Given the description of an element on the screen output the (x, y) to click on. 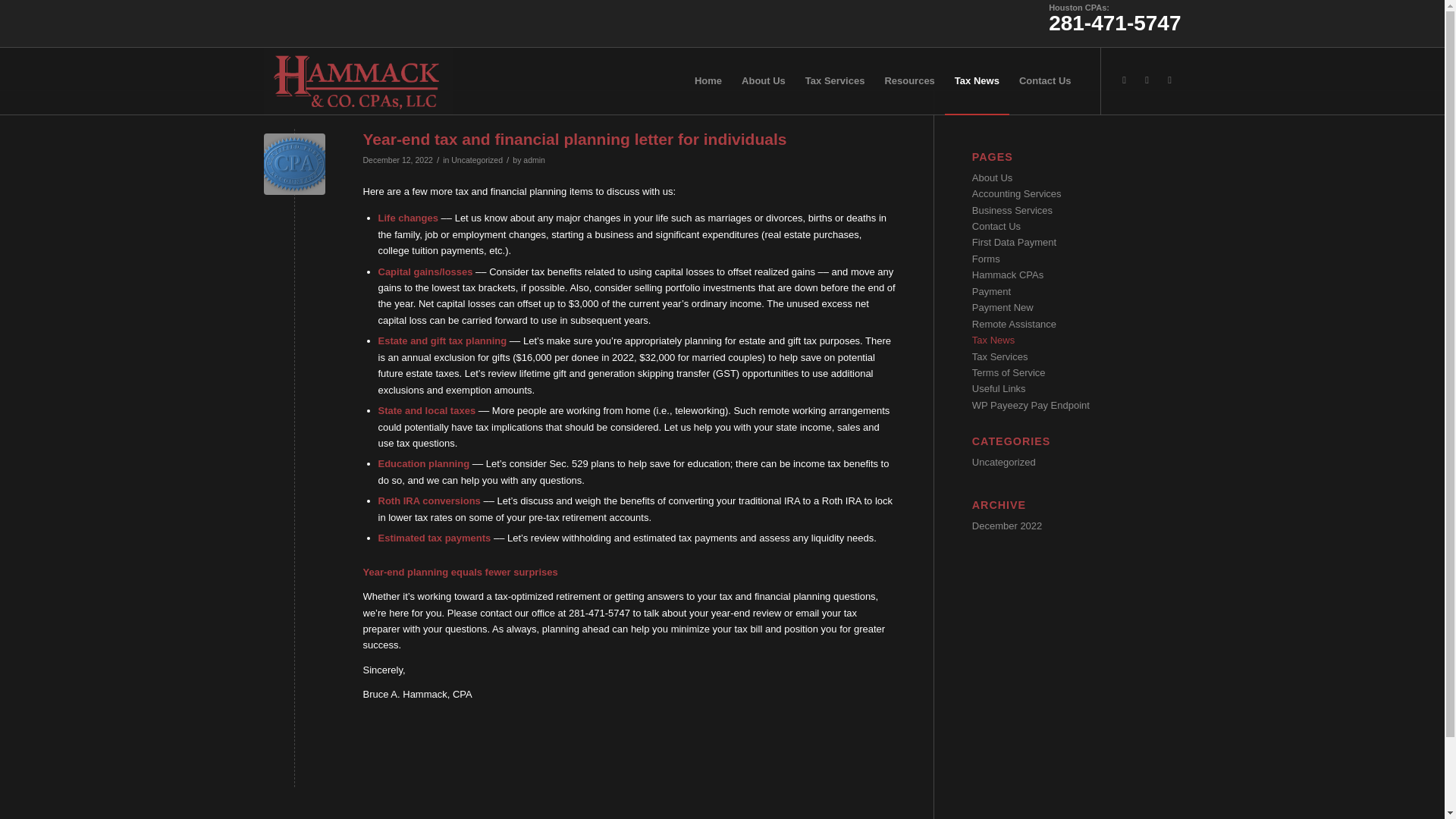
Contact Us (996, 225)
Accounting Services (1016, 193)
281-471-5747 (1114, 28)
cpa-seal (293, 163)
Remote Assistance (1014, 324)
About Us (991, 177)
Facebook (1169, 79)
admin (533, 159)
HammackCAPs-logo-black-2 (357, 80)
Payment (991, 291)
Useful Links (999, 388)
Tax Services (999, 356)
Twitter (1146, 79)
Terms of Service (1008, 372)
Posts by admin (533, 159)
